Given the description of an element on the screen output the (x, y) to click on. 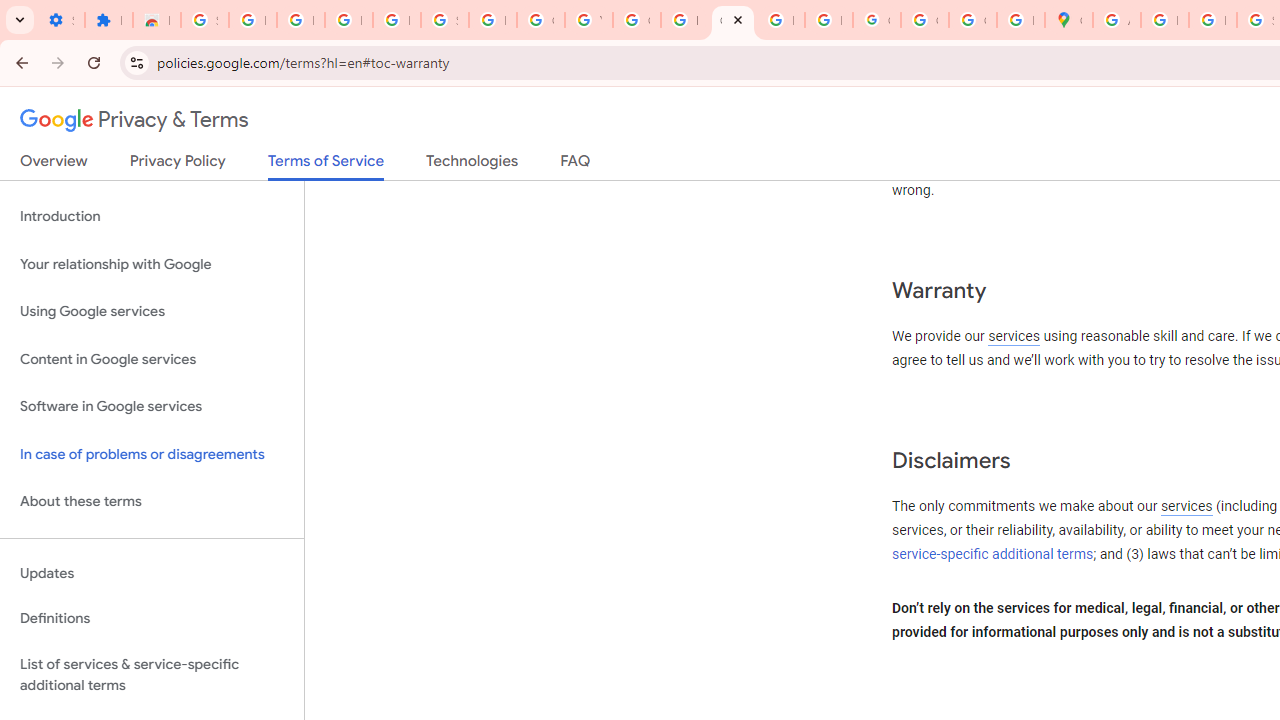
Software in Google services (152, 407)
Sign in - Google Accounts (204, 20)
Google Account (540, 20)
Extensions (108, 20)
https://scholar.google.com/ (684, 20)
Google Maps (1068, 20)
Introduction (152, 216)
services (1186, 507)
Using Google services (152, 312)
